Given the description of an element on the screen output the (x, y) to click on. 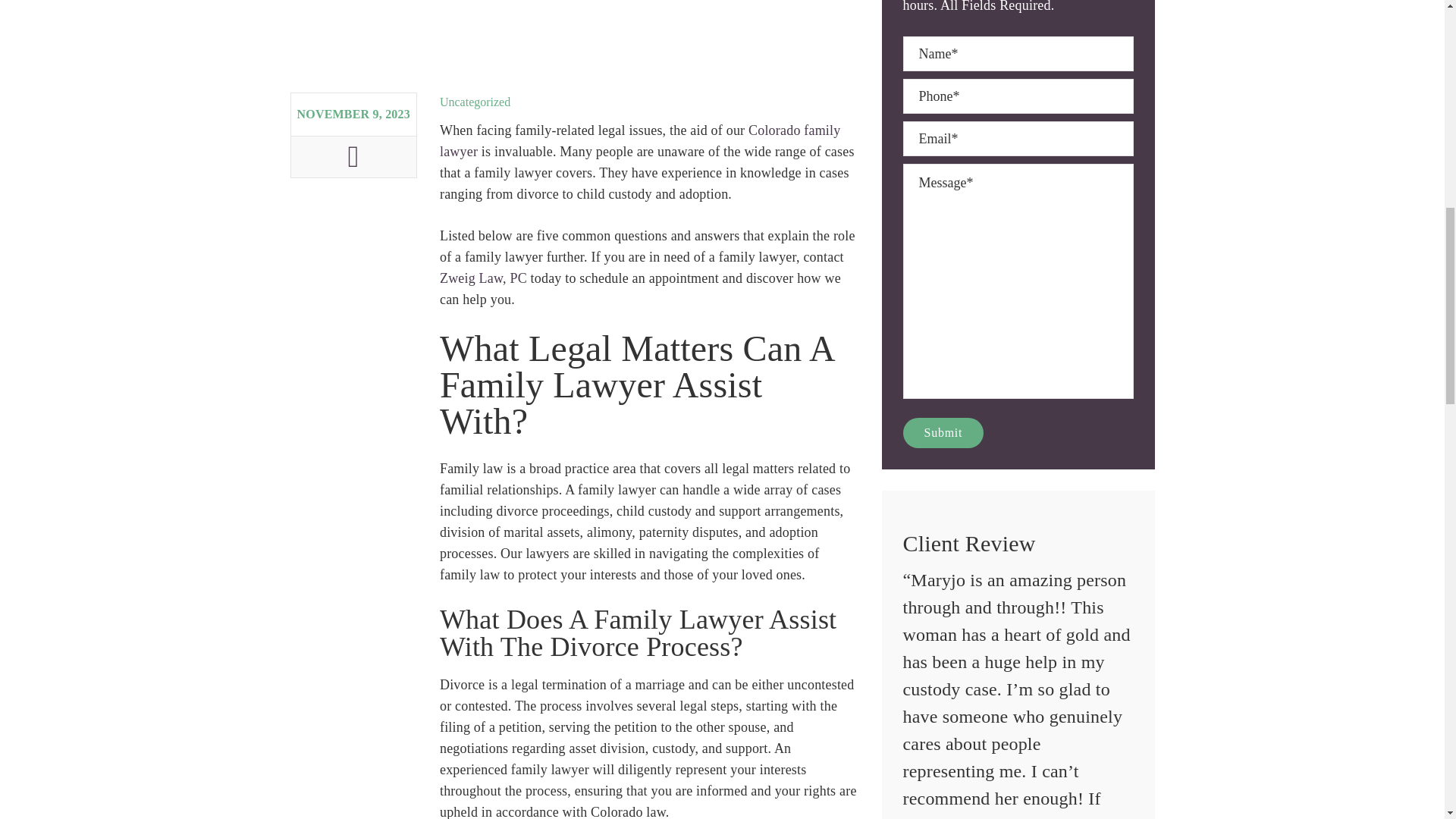
Zweig Law, PC (483, 278)
Uncategorized (475, 101)
Submit (943, 432)
Submit (943, 432)
Colorado family lawyer (640, 140)
